Given the description of an element on the screen output the (x, y) to click on. 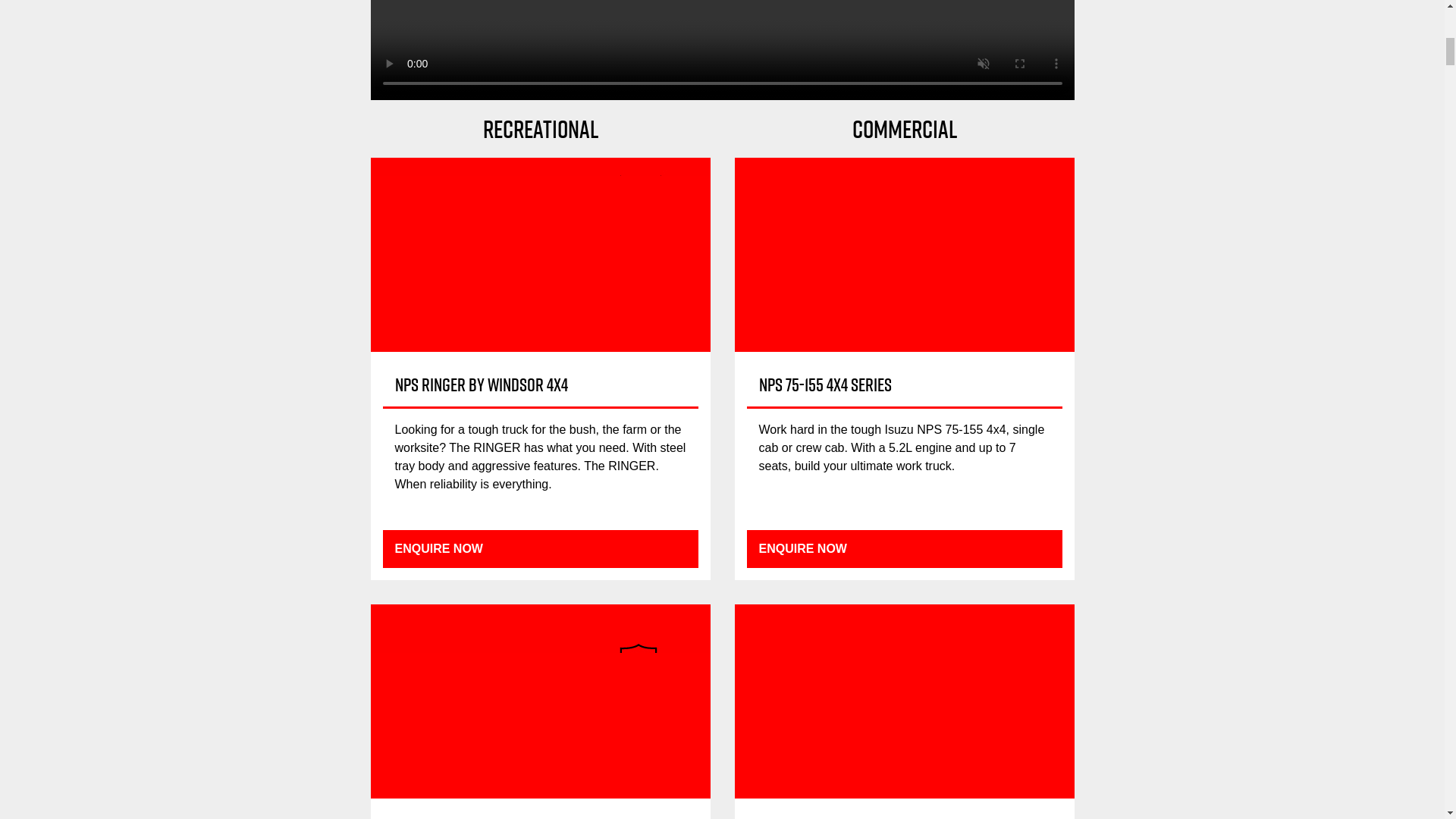
ENQUIRE NOW (903, 548)
ENQUIRE NOW (539, 548)
